Given the description of an element on the screen output the (x, y) to click on. 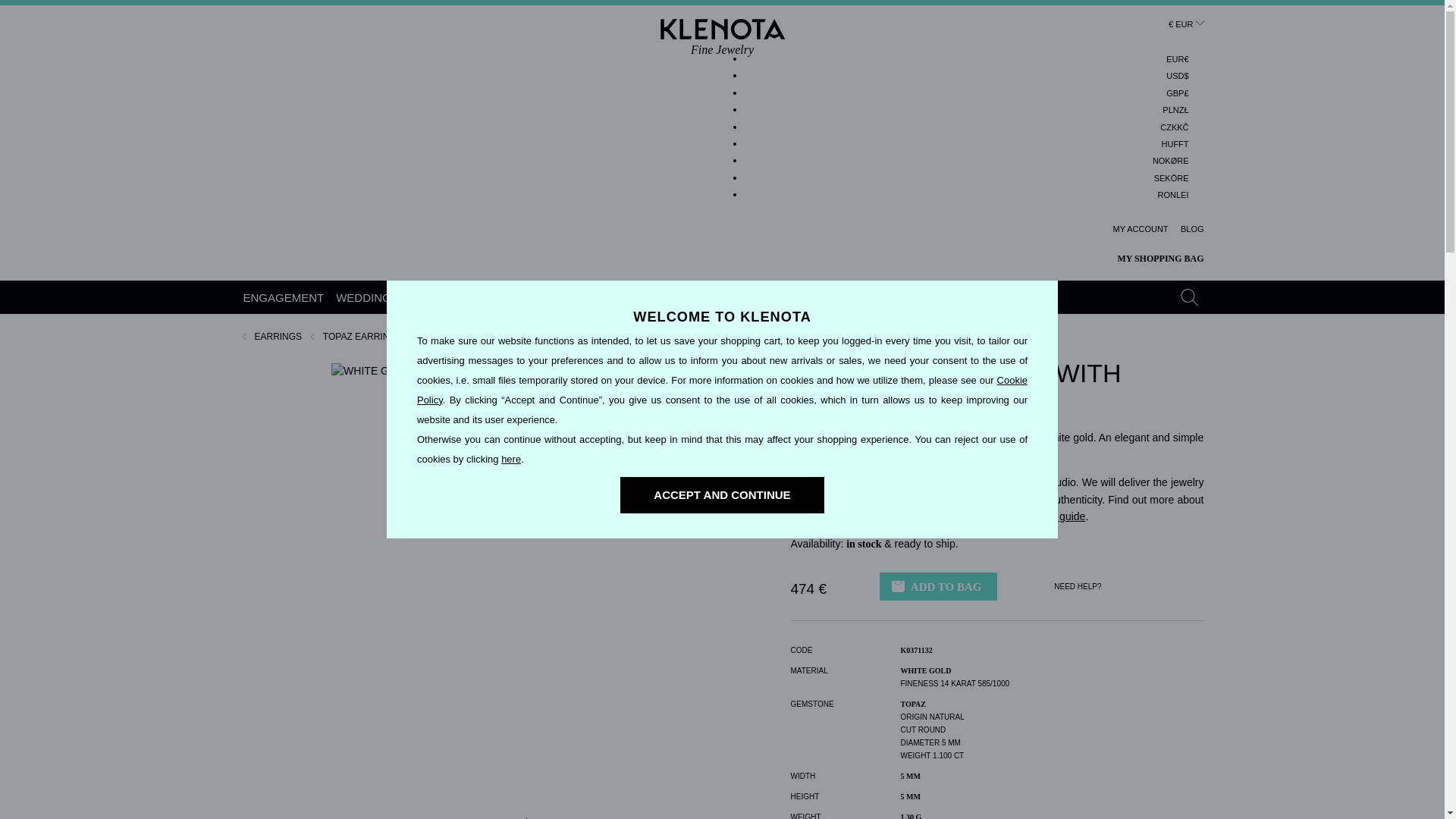
ENGAGEMENT (283, 296)
MY ACCOUNT (1173, 195)
MY SHOPPING BAG (1175, 144)
BLOG (1141, 228)
